Given the description of an element on the screen output the (x, y) to click on. 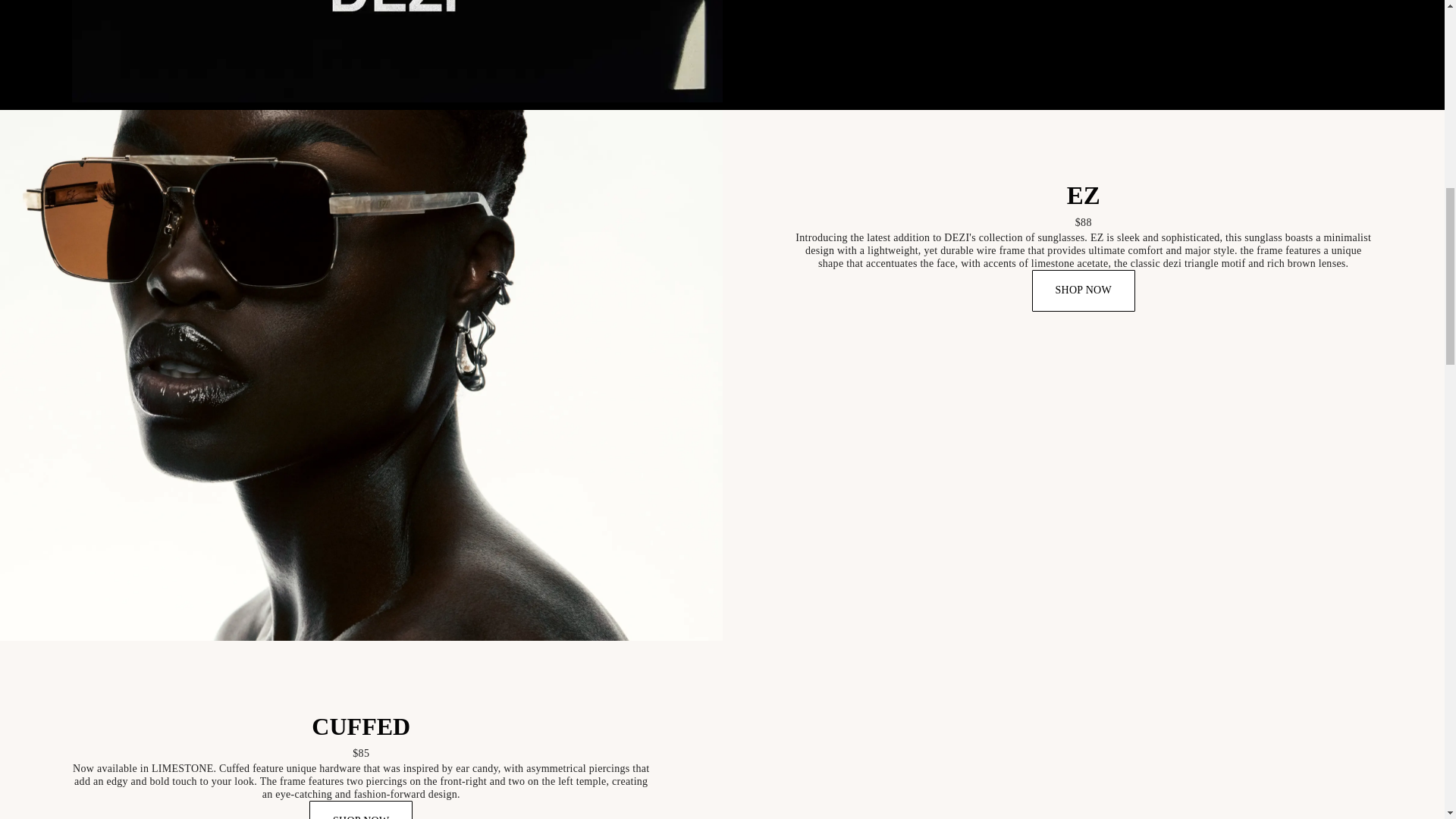
SHOP NOW (1083, 290)
SHOP NOW (360, 809)
